Given the description of an element on the screen output the (x, y) to click on. 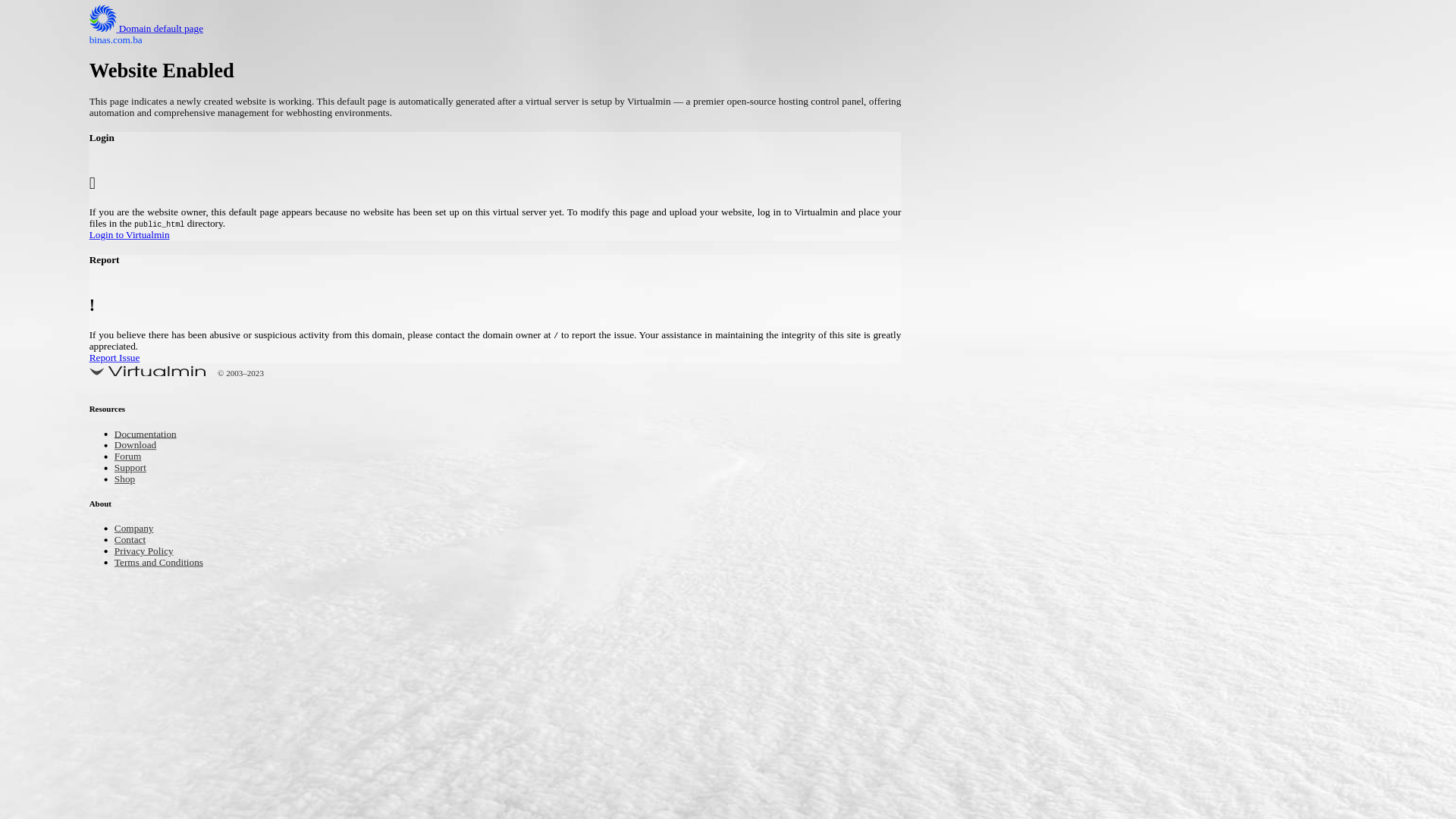
Forum Element type: text (130, 457)
Domain default page Element type: text (157, 28)
Company Element type: text (137, 529)
Support Element type: text (133, 468)
Shop Element type: text (126, 479)
Documentation Element type: text (151, 434)
Login to Virtualmin Element type: text (578, 236)
Download Element type: text (139, 445)
Report Issue Element type: text (578, 358)
Terms and Conditions Element type: text (167, 562)
Contact Element type: text (133, 539)
Privacy Policy Element type: text (149, 551)
